Given the description of an element on the screen output the (x, y) to click on. 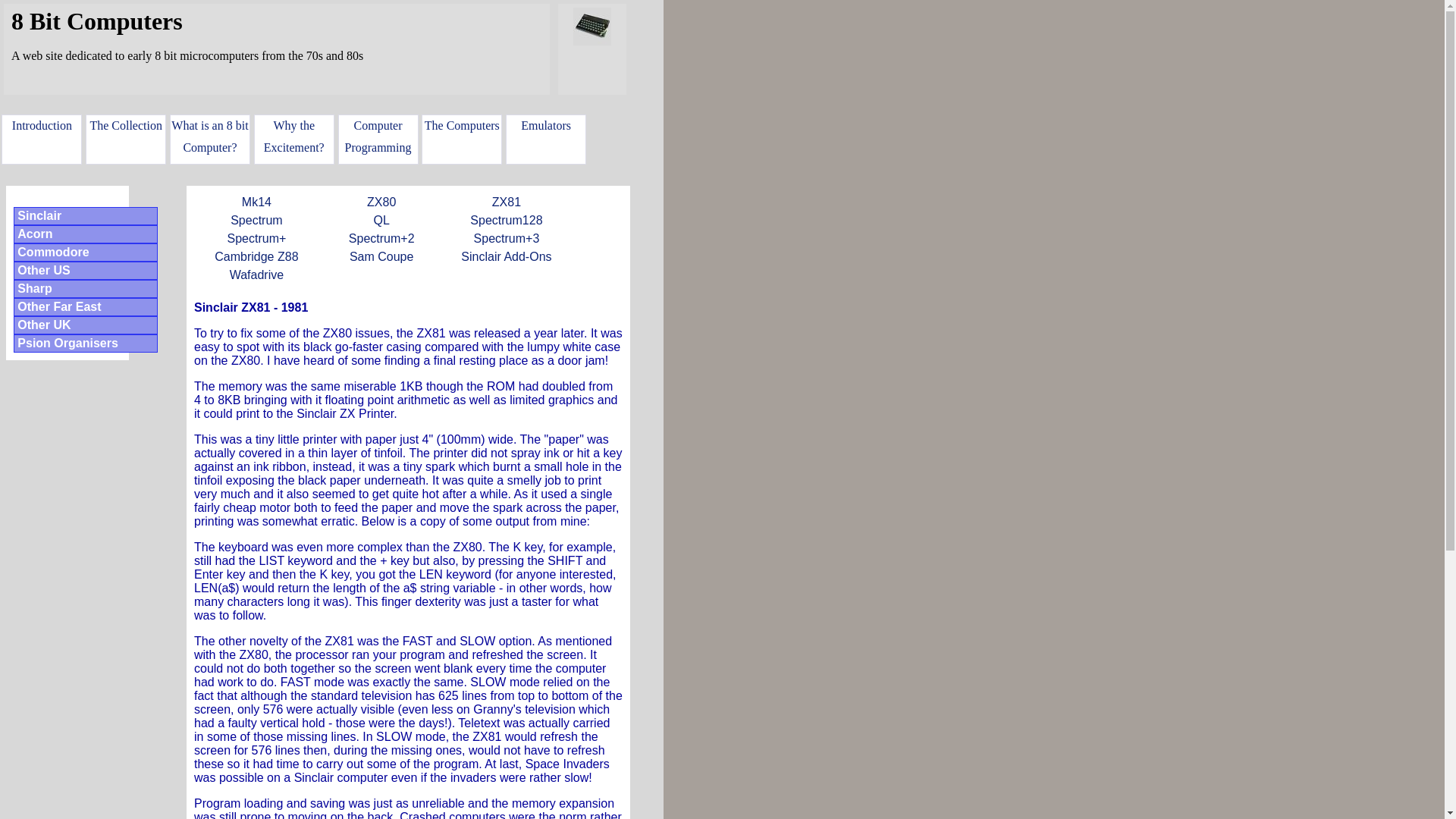
Other Far East (85, 307)
ZX80 (381, 202)
ZX81 (506, 202)
Introduction (41, 139)
Psion Organisers (85, 343)
Other UK (85, 325)
Cambridge Z88 (256, 257)
Emulators (545, 139)
Wafadrive (256, 275)
Mk14 (256, 202)
